Given the description of an element on the screen output the (x, y) to click on. 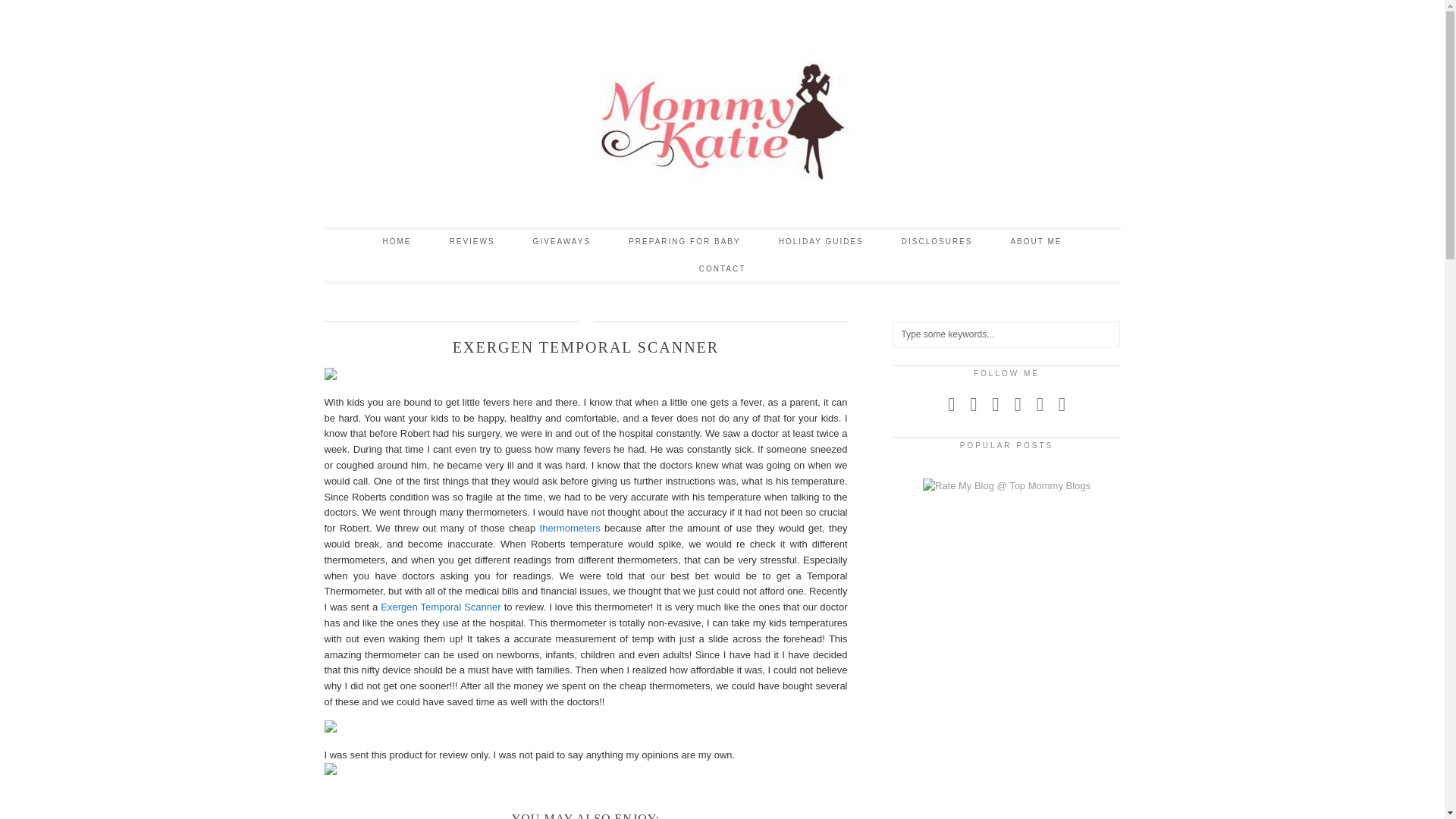
Search for: (1007, 334)
thermometers (569, 527)
PREPARING FOR BABY (685, 241)
Exergen Temporal Scanner (440, 606)
GIVEAWAYS (561, 241)
ABOUT ME (1035, 241)
REVIEWS (471, 241)
DISCLOSURES (936, 241)
CONTACT (722, 268)
